Given the description of an element on the screen output the (x, y) to click on. 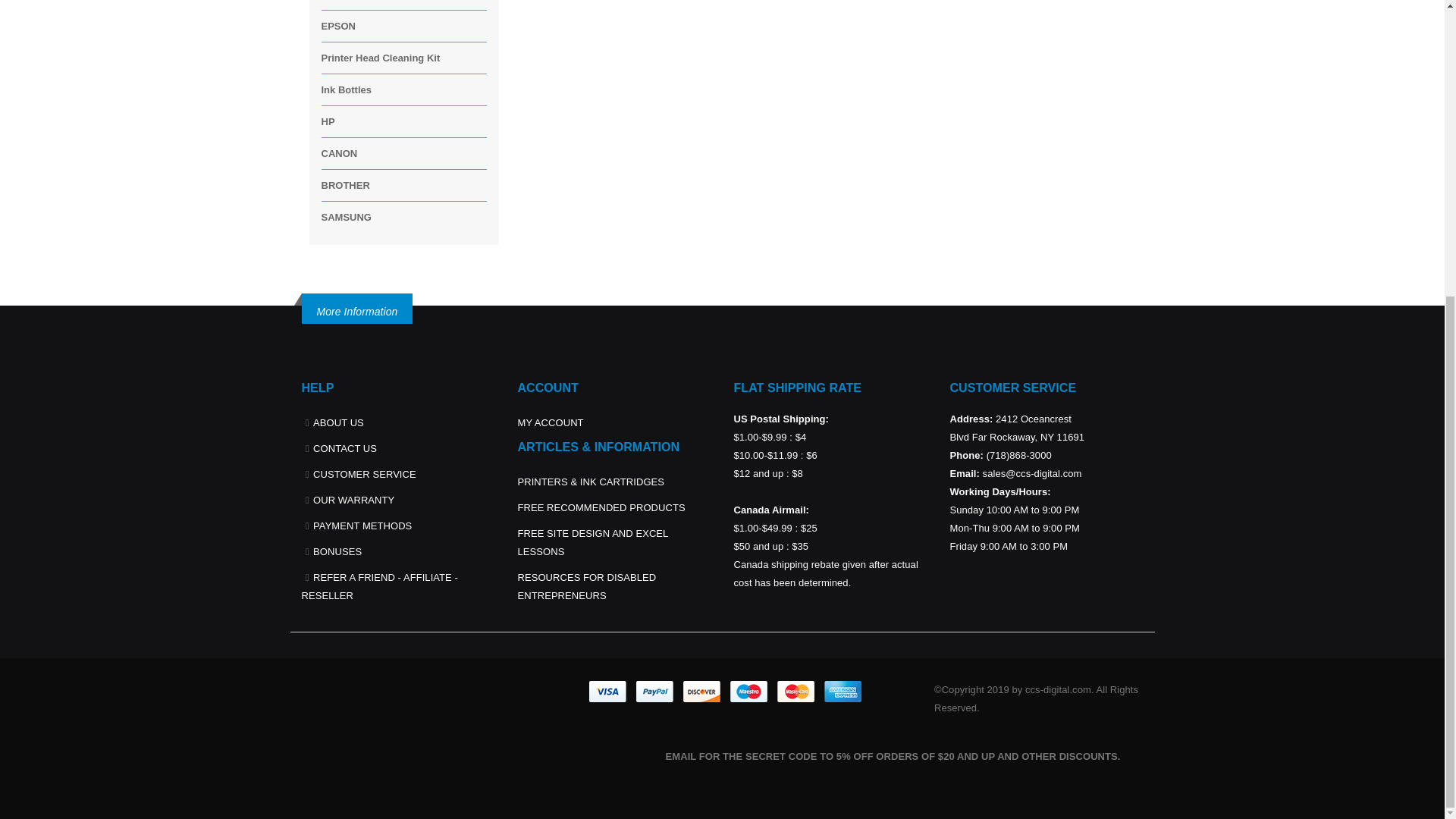
Payment Methods (362, 525)
FREE RECOMMENDED PRODUCTS (600, 507)
Bonuses (337, 551)
 Resources for disabled entrepreneurs (586, 586)
 Free Recommended Products (600, 507)
BROTHER (345, 184)
CONTACT US (345, 448)
Refer A Friend - Affiliate - Reseller (379, 586)
HP (327, 121)
About us (338, 422)
